Given the description of an element on the screen output the (x, y) to click on. 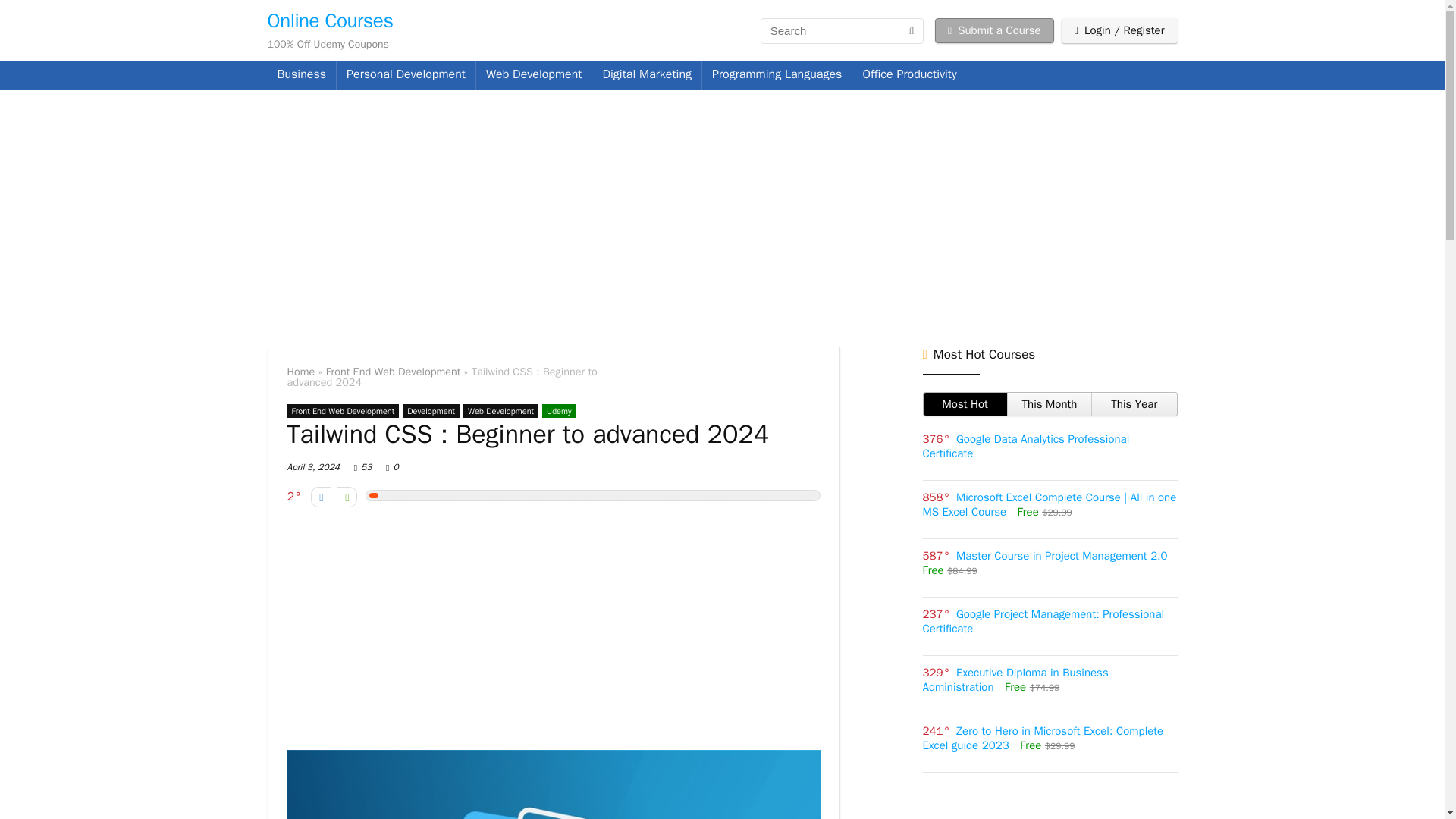
View all posts in Udemy (558, 410)
Executive Diploma in Business Administration (1014, 679)
View all posts in Front End Web Development (342, 410)
Google Project Management: Professional Certificate (1042, 621)
View all posts in Web Development (500, 410)
Vote up (346, 496)
Web Development (534, 75)
Front End Web Development (393, 371)
Vote down (321, 496)
Front End Web Development (342, 410)
Digital Marketing (646, 75)
Office Productivity (908, 75)
Home (300, 371)
Personal Development (406, 75)
Submit a Course (994, 30)
